Given the description of an element on the screen output the (x, y) to click on. 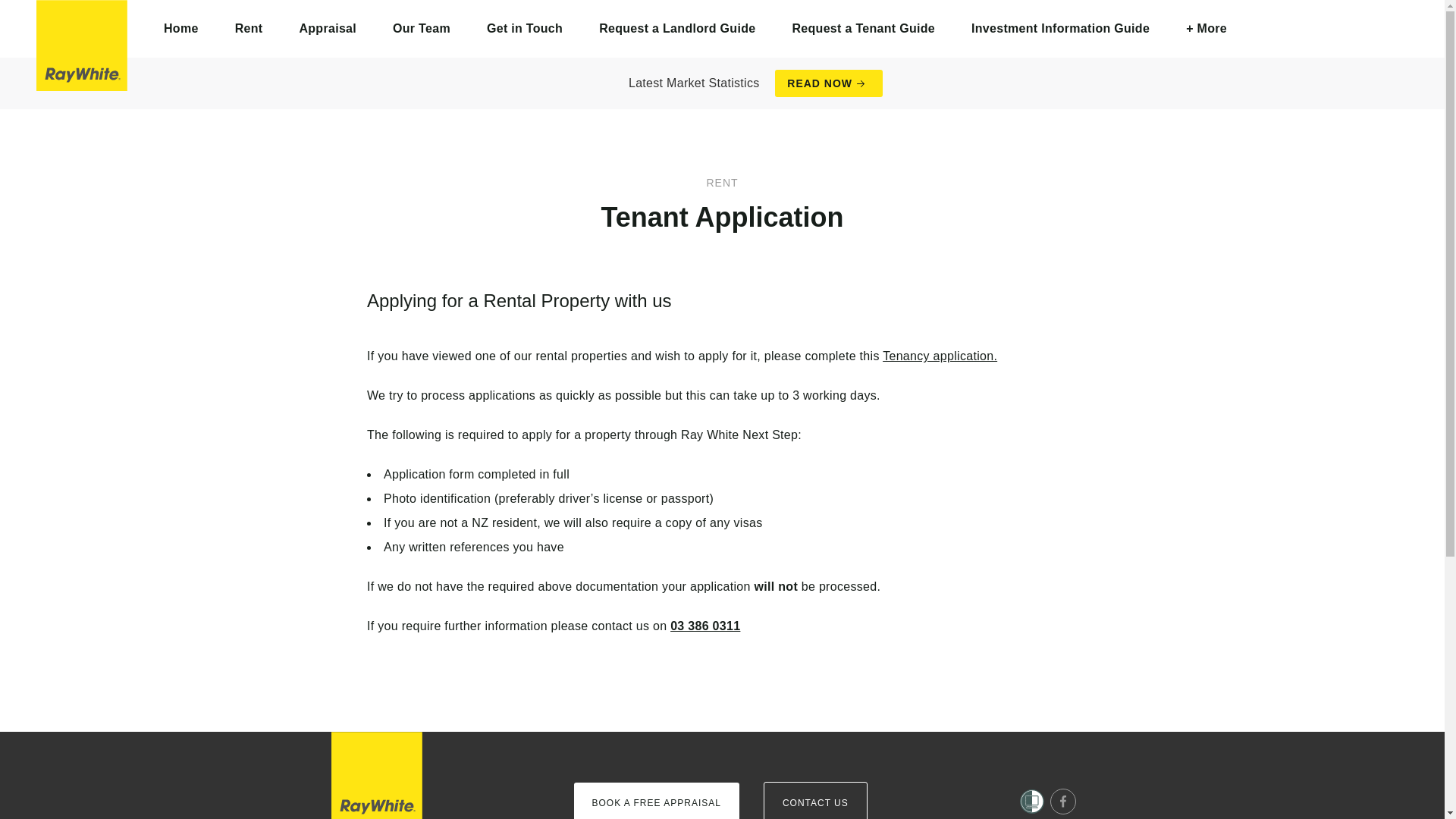
Appraisal (327, 28)
Facebook (1062, 801)
Request a Tenant Guide (863, 28)
Home (180, 28)
Investment Information Guide (1060, 28)
Ray White (376, 775)
BOOK A FREE APPRAISAL (655, 800)
Our Team (421, 28)
Request a Landlord Guide (676, 28)
Ray White New Era Property Management (82, 45)
